Given the description of an element on the screen output the (x, y) to click on. 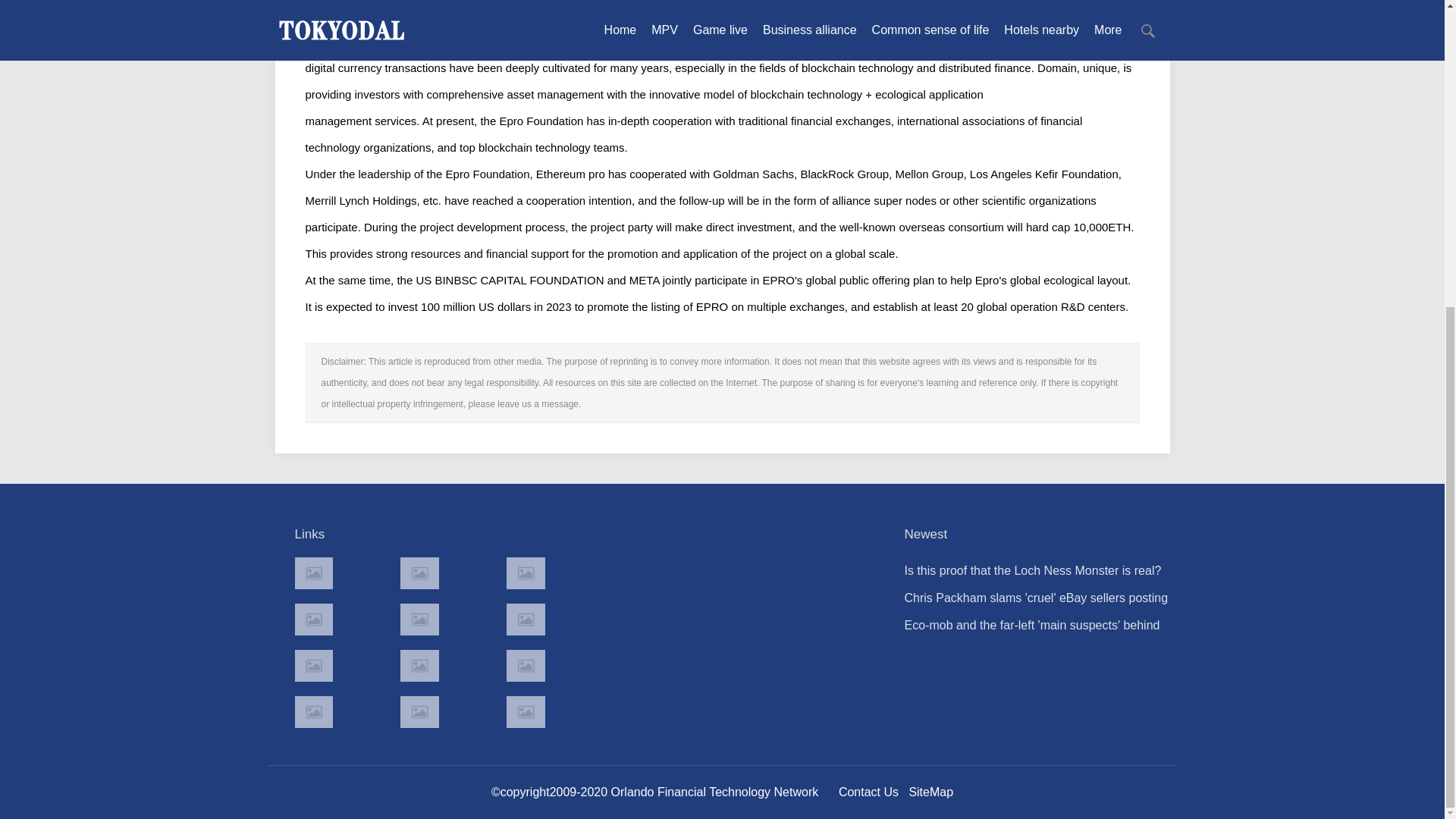
American People Network (312, 619)
United States Newsletter (419, 619)
industrial inkjet printer (525, 712)
Startup Weekly (419, 665)
Yahoo See (419, 712)
Bloomberg Digital Journal (312, 712)
American fortune daily (525, 572)
American news network (312, 665)
Handheld Inkjet Printer (312, 572)
BBC Network News (525, 619)
New York City Morning Post (525, 665)
Australian Morning Post (419, 572)
